Given the description of an element on the screen output the (x, y) to click on. 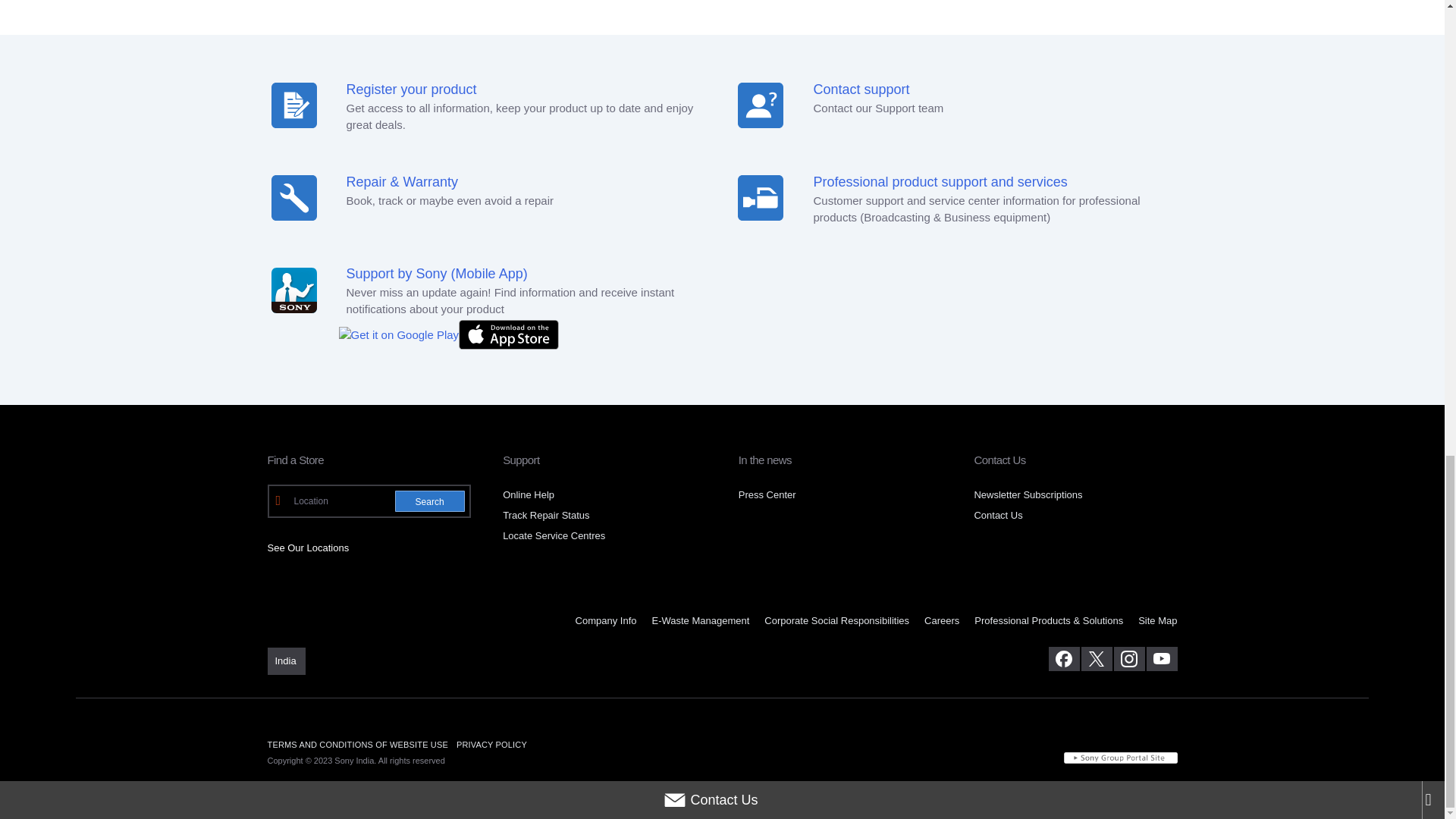
nntnnnttnn (760, 197)
